Given the description of an element on the screen output the (x, y) to click on. 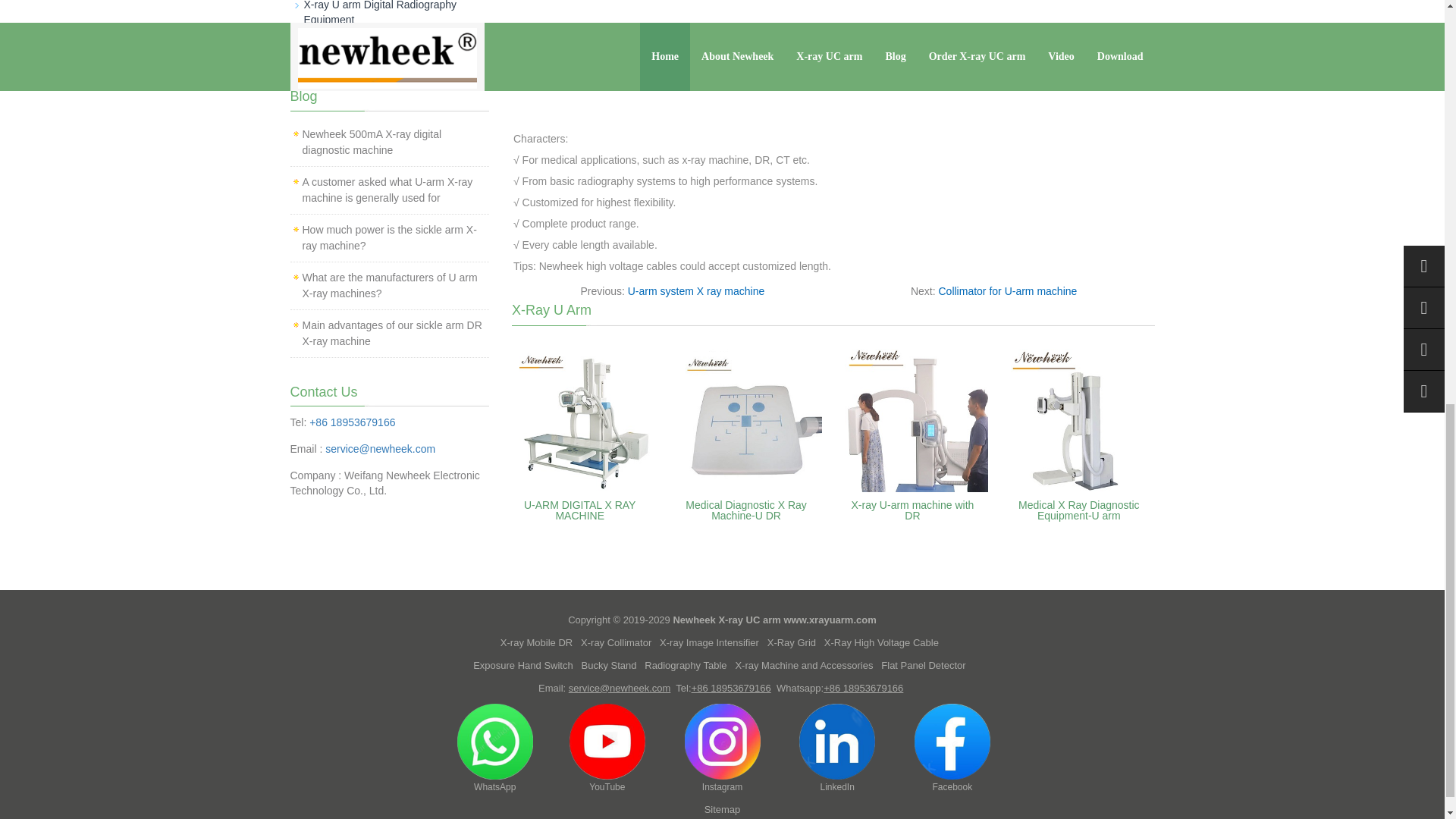
U-ARM DIGITAL X RAY MACHINE (580, 509)
What are the manufacturers of U arm X-ray machines? (389, 285)
U-arm system X ray machine (695, 291)
Main advantages of our sickle arm DR X-ray machine (391, 333)
Newheek 500mA X-ray digital diagnostic machine (371, 141)
Collimator for U-arm machine (1008, 291)
How much power is the sickle arm X-ray machine? (388, 237)
